Given the description of an element on the screen output the (x, y) to click on. 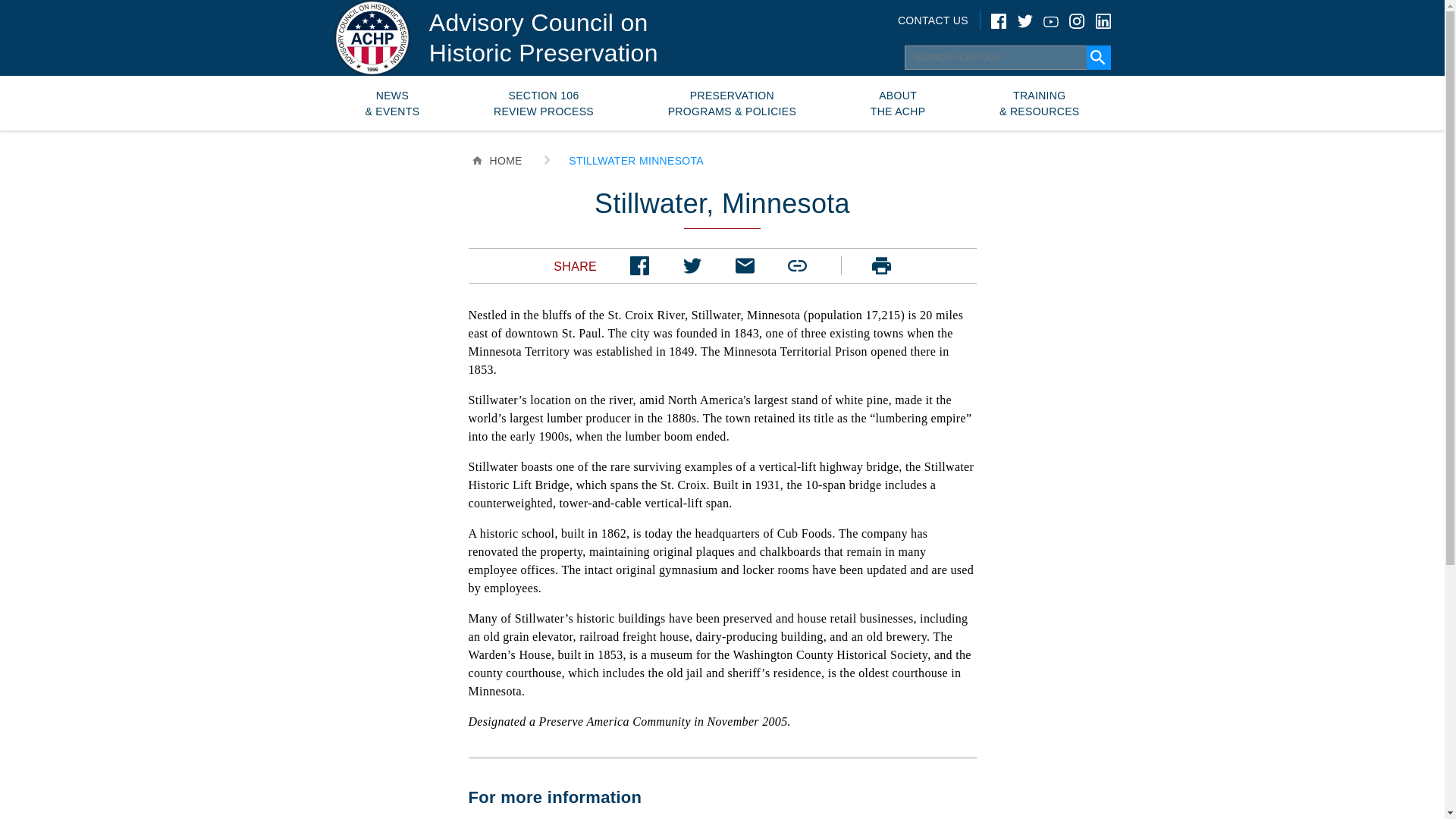
Advisory Council on Historic Preservation (543, 37)
CONTACT US (932, 20)
Shape Created with Sketch. (881, 265)
twitter-icon Created with Sketch. (691, 265)
facebook-icon Created with Sketch. (639, 265)
link-icon Created with Sketch. (796, 265)
email-icon Created with Sketch. (744, 265)
